Given the description of an element on the screen output the (x, y) to click on. 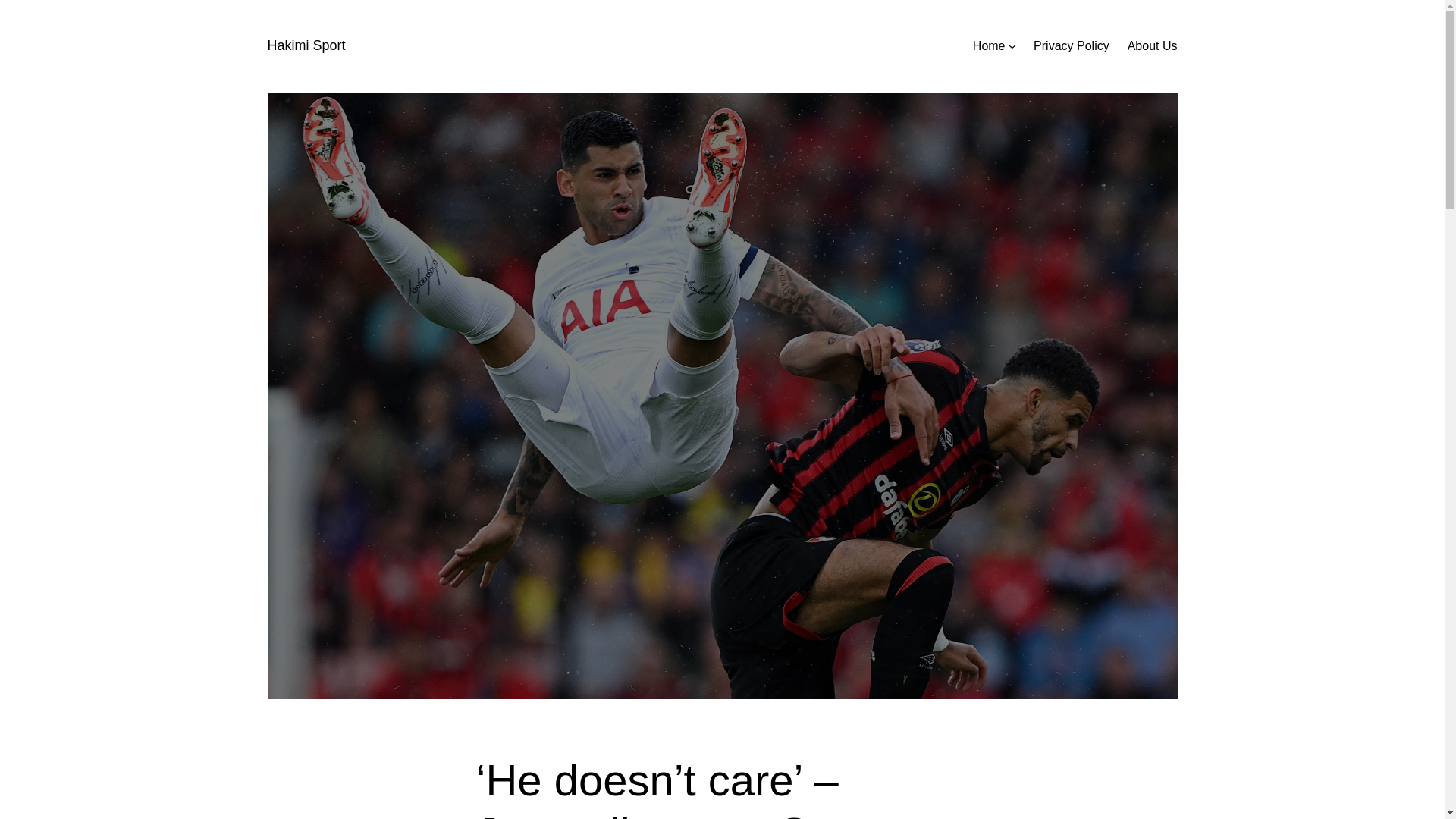
Privacy Policy (1071, 46)
Home (989, 46)
About Us (1151, 46)
Hakimi Sport (305, 45)
